Given the description of an element on the screen output the (x, y) to click on. 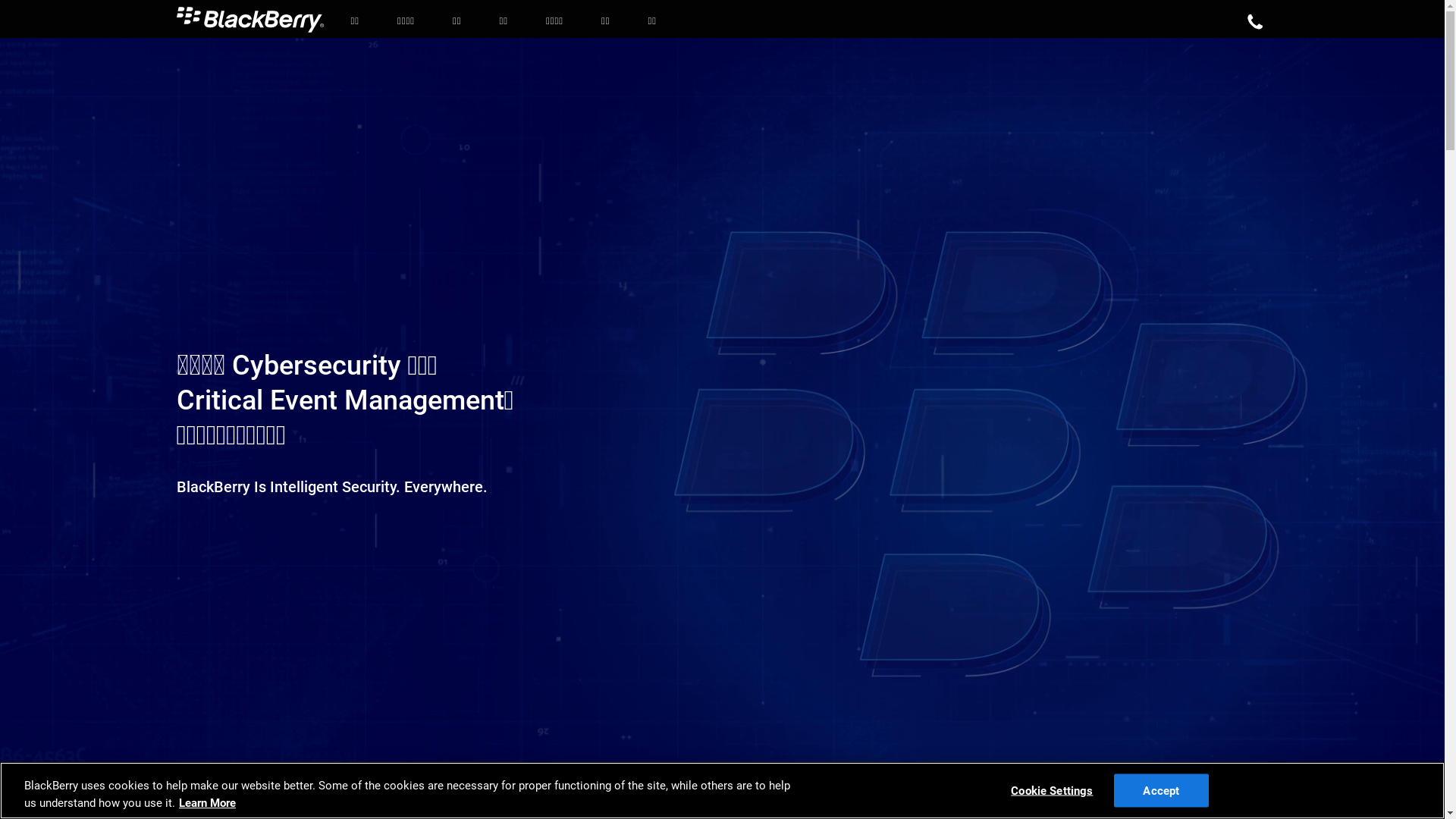
Accept Element type: text (1160, 789)
Cookie Settings Element type: text (1051, 790)
Learn More Element type: text (206, 802)
BlackBerry Logo Element type: text (249, 19)
